Given the description of an element on the screen output the (x, y) to click on. 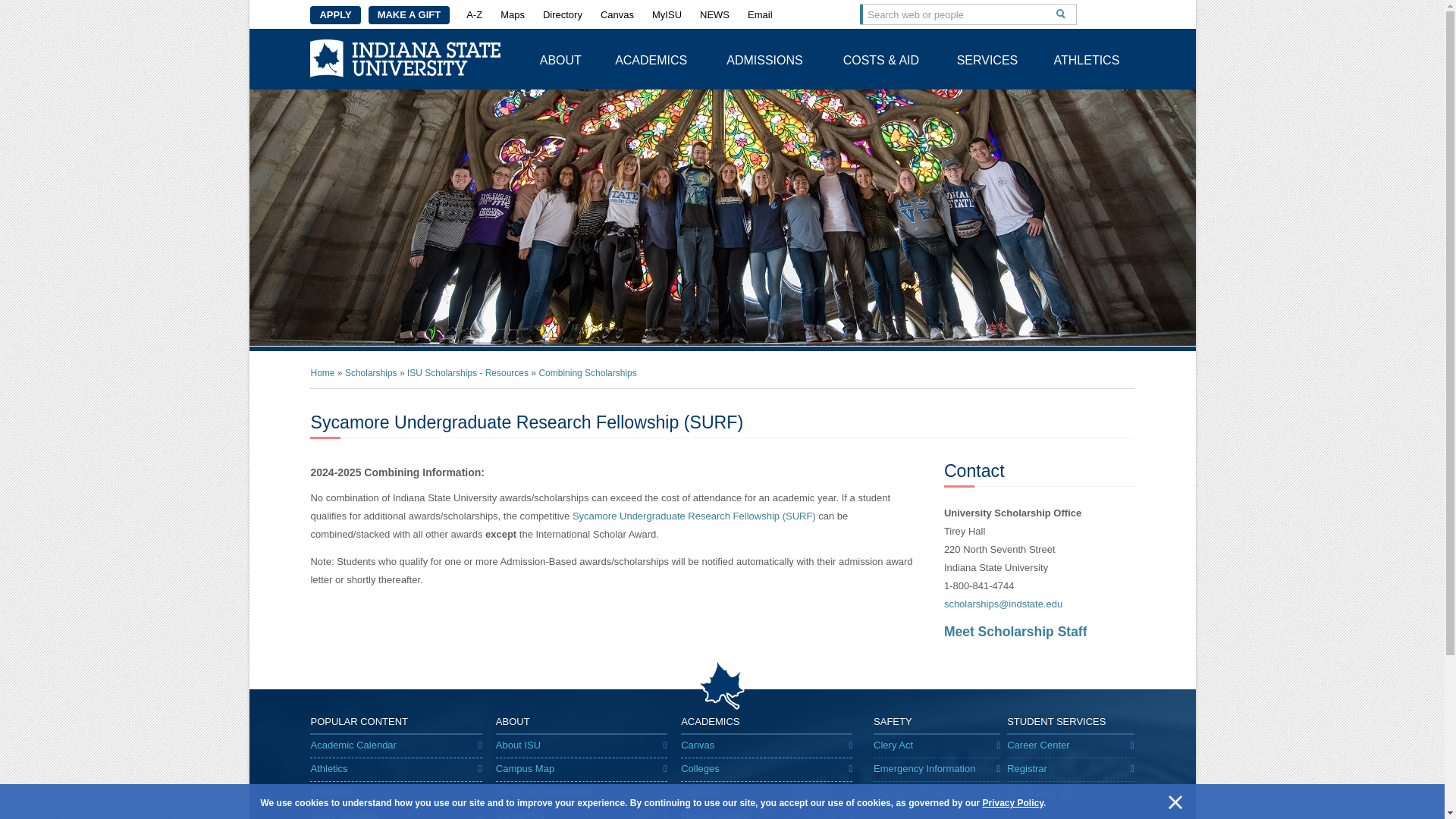
ABOUT (560, 58)
MAKE A GIFT (408, 14)
APPLY (334, 14)
ACADEMICS (651, 58)
Canvas (617, 15)
Enter the terms you wish to search for. (956, 14)
Apply (334, 14)
Home (405, 57)
Directory (562, 15)
Email (759, 15)
MyISU (666, 15)
Search (1060, 14)
Search (1060, 14)
Give (408, 14)
